Given the description of an element on the screen output the (x, y) to click on. 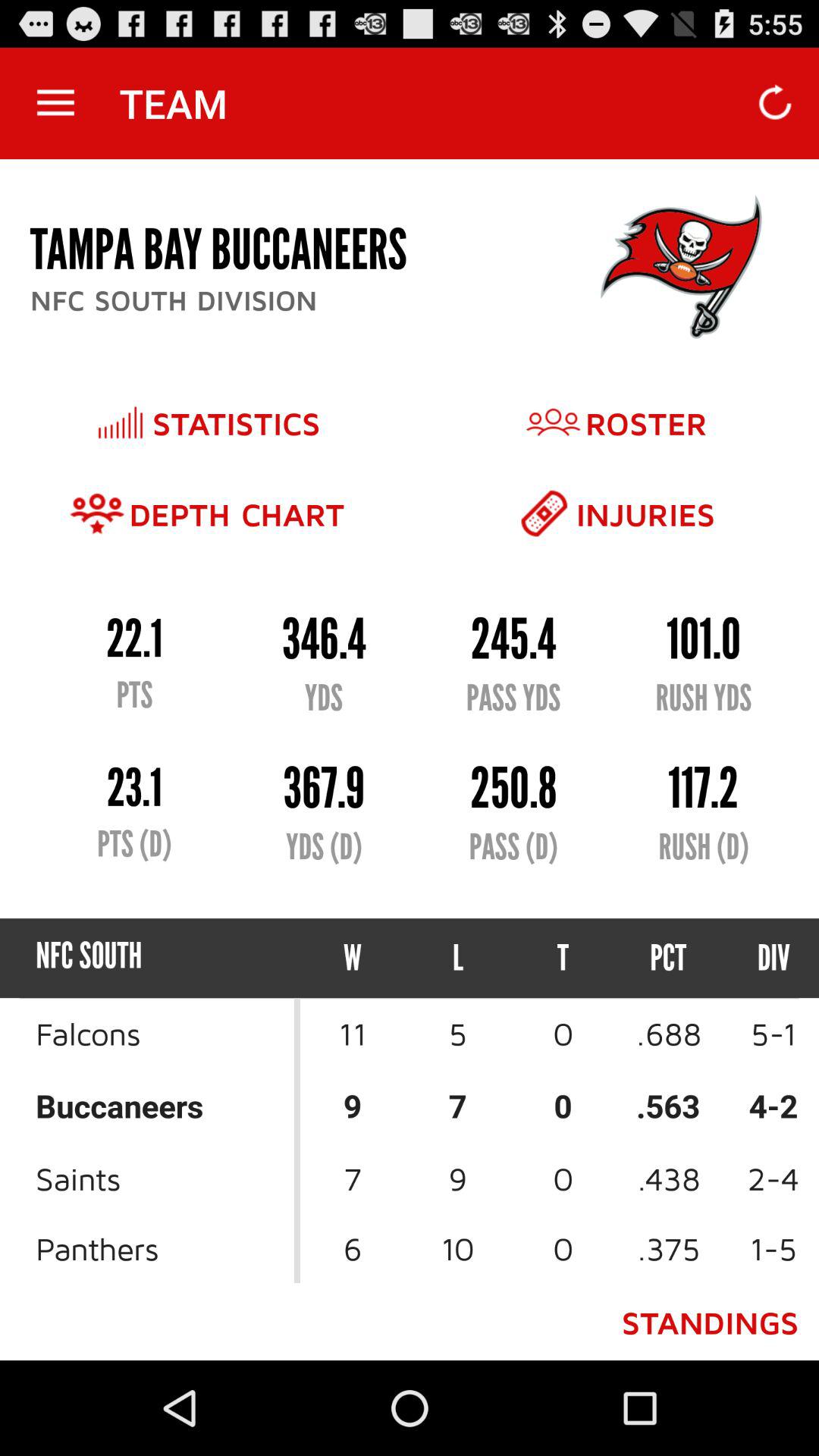
open the icon next to div icon (668, 958)
